Given the description of an element on the screen output the (x, y) to click on. 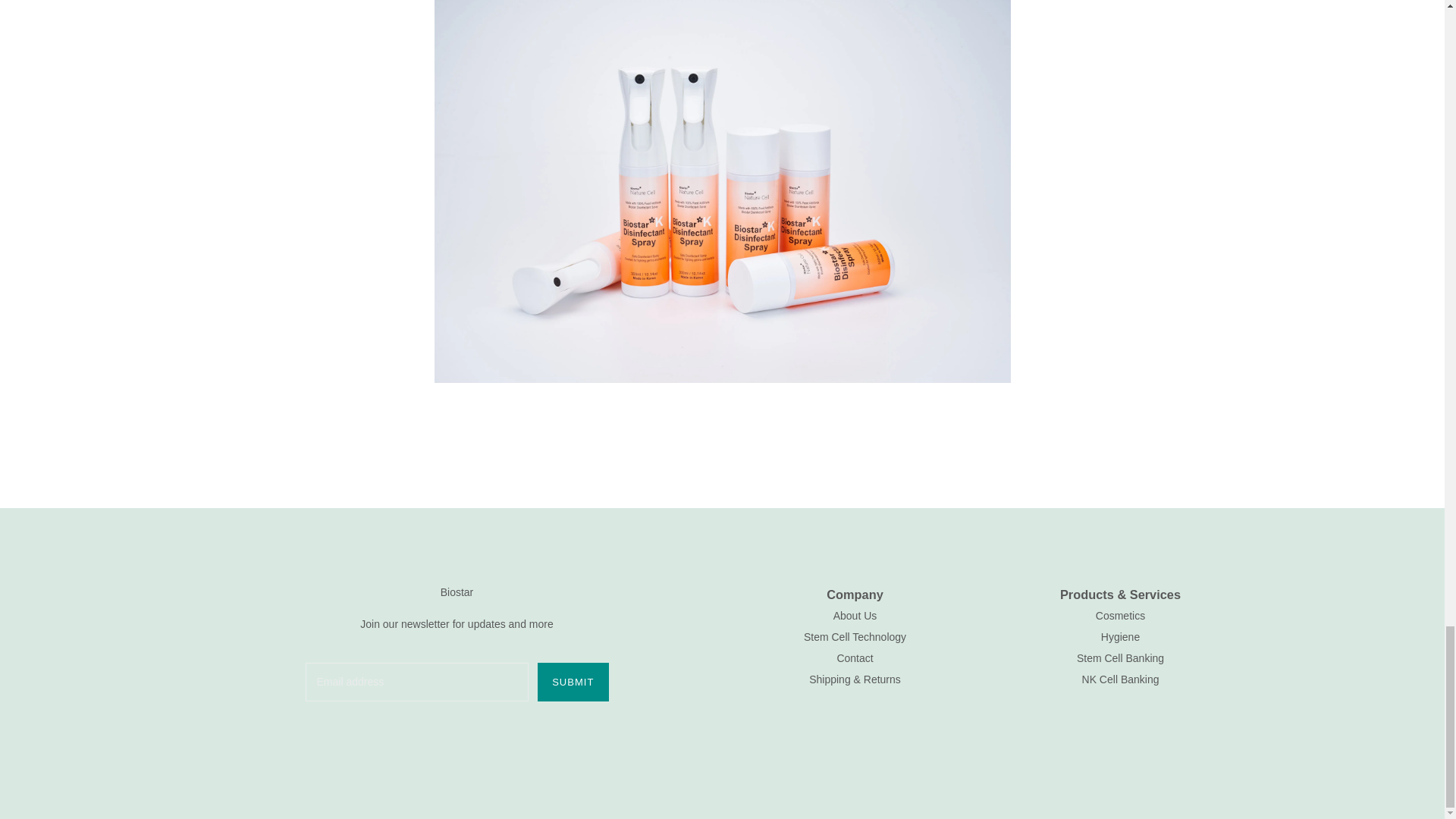
Stem Cell Technology (854, 636)
About Us (854, 615)
Submit (572, 681)
Submit (572, 681)
